Given the description of an element on the screen output the (x, y) to click on. 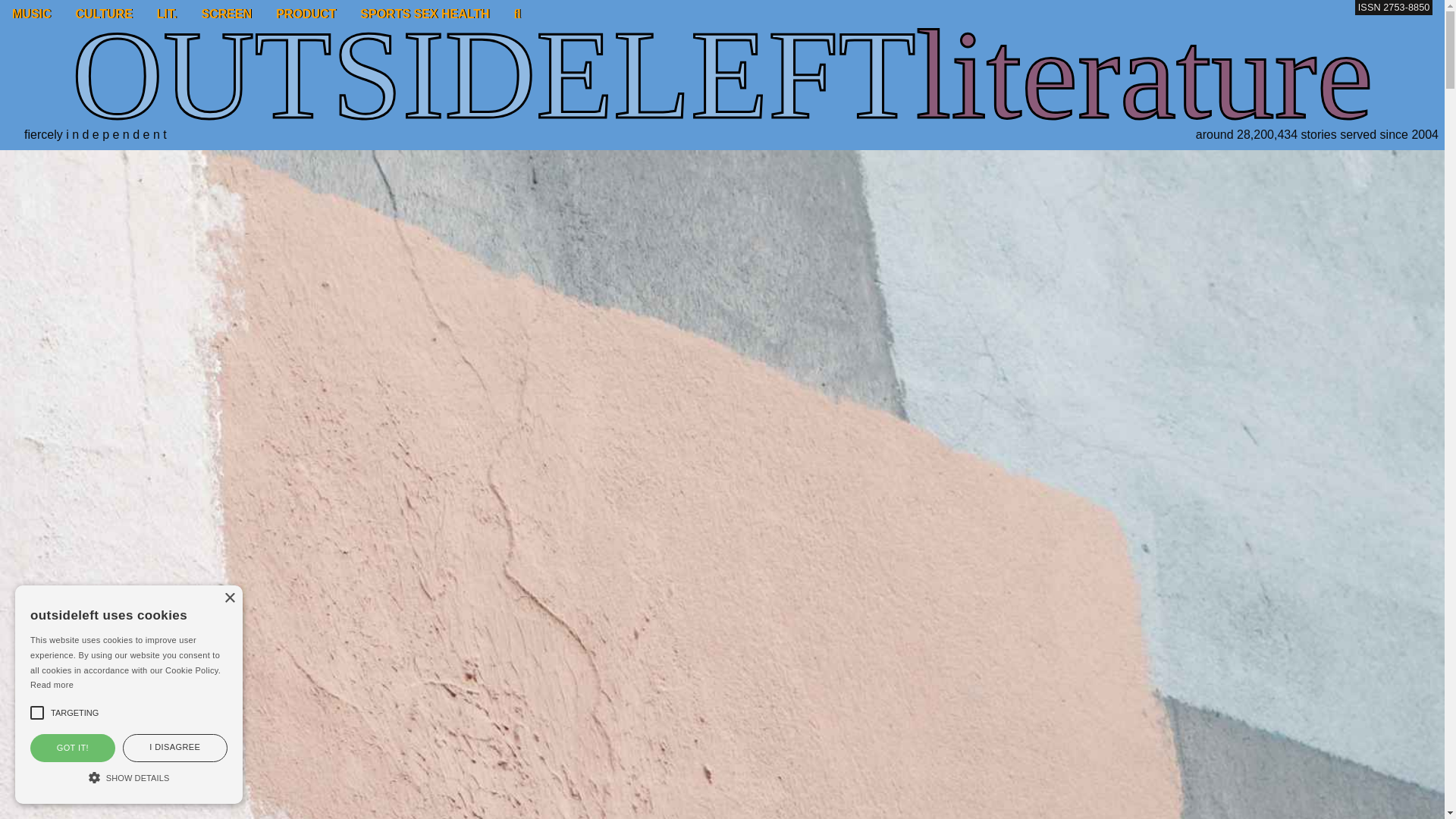
MUSIC (32, 14)
OUTSIDELEFT (493, 74)
LIT. (166, 14)
SCREEN (226, 14)
PRODUCT (305, 14)
CULTURE (104, 14)
SPORTS SEX HEALTH (423, 14)
